Given the description of an element on the screen output the (x, y) to click on. 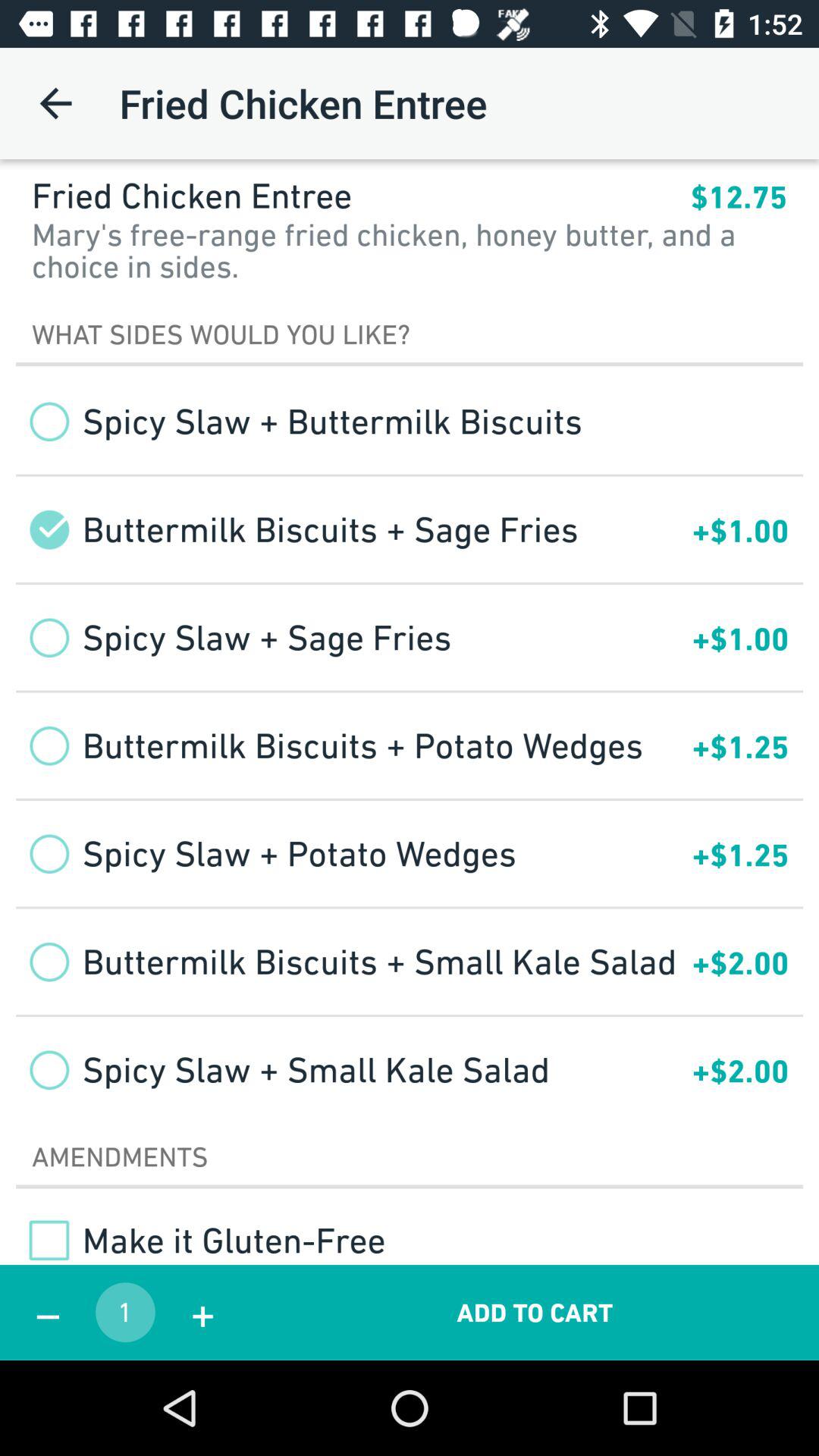
press the amendments (409, 1156)
